Given the description of an element on the screen output the (x, y) to click on. 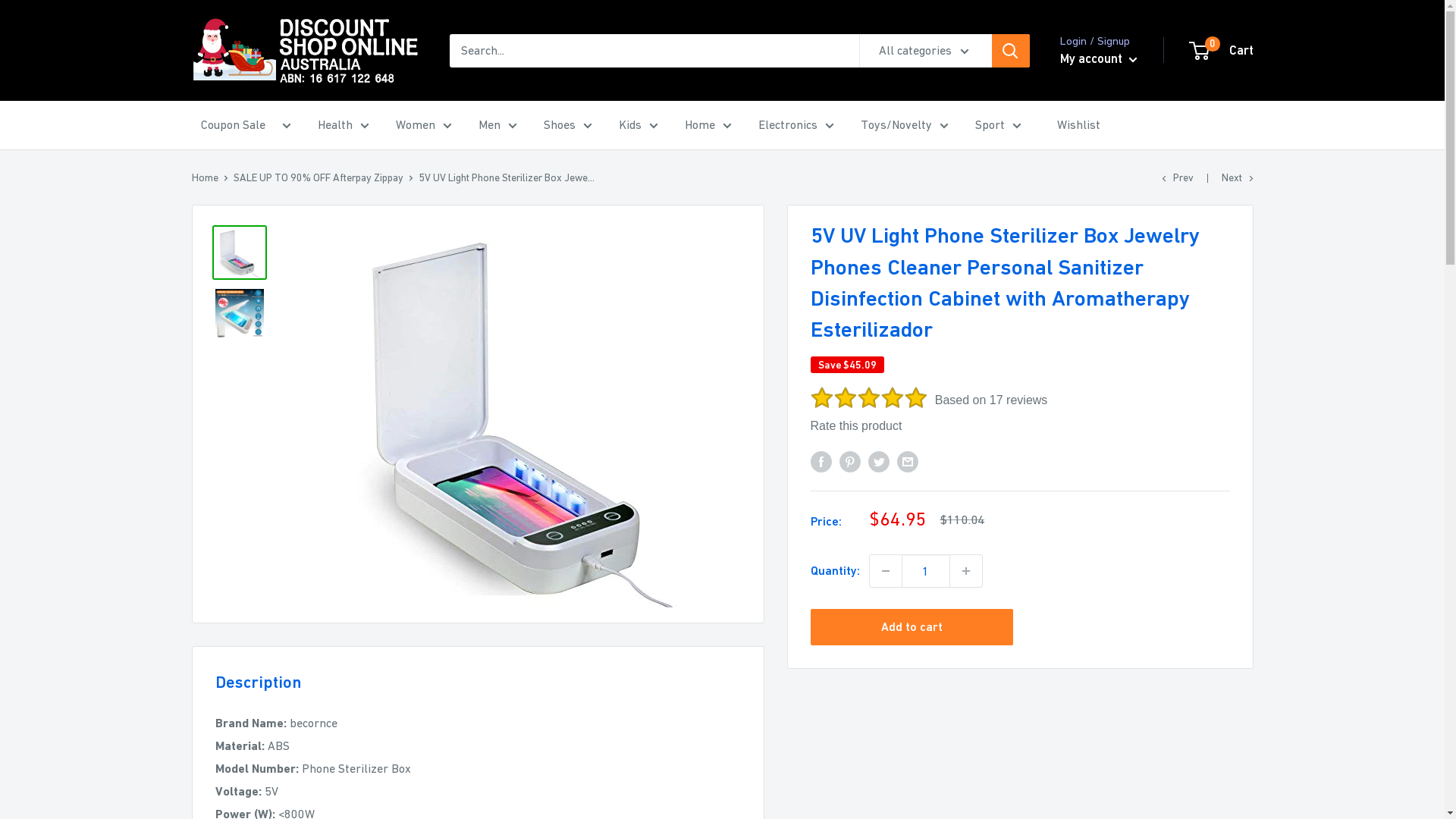
0
Cart Element type: text (1221, 50)
Add to cart Element type: text (911, 626)
Men Element type: text (496, 124)
Toys/Novelty Element type: text (903, 124)
Sport Element type: text (998, 124)
Decrease quantity by 1 Element type: hover (884, 570)
Home Element type: text (204, 177)
Prev Element type: text (1177, 177)
Women Element type: text (423, 124)
Shoes Element type: text (566, 124)
Increase quantity by 1 Element type: hover (965, 570)
My account Element type: text (1098, 59)
Kids Element type: text (638, 124)
Health Element type: text (342, 124)
Home Element type: text (707, 124)
Electronics Element type: text (796, 124)
SALE UP TO 90% OFF Afterpay Zippay Element type: text (318, 177)
Next Element type: text (1236, 177)
